Given the description of an element on the screen output the (x, y) to click on. 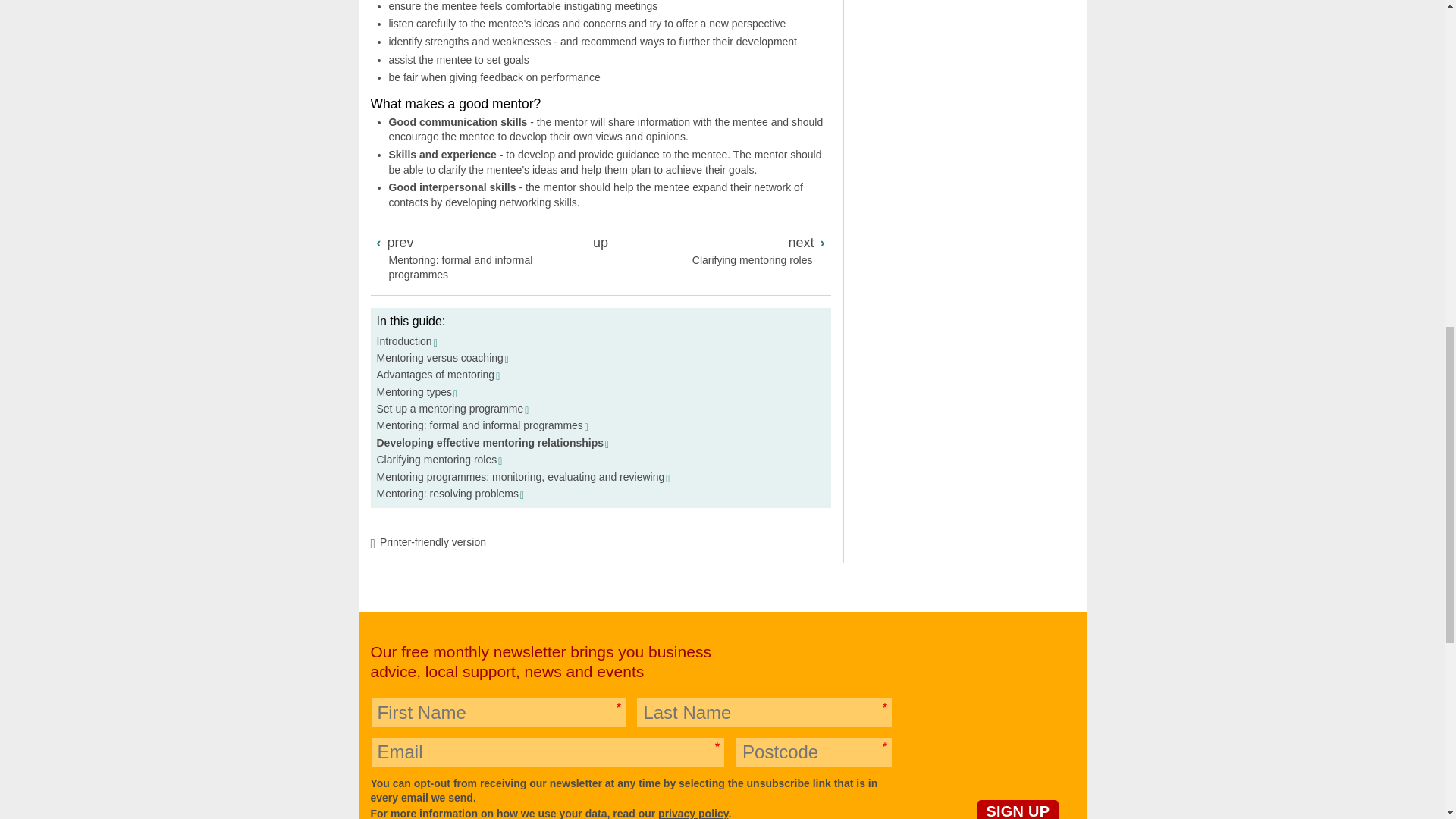
Go to next page (723, 250)
Sign up (1017, 809)
Go to previous page (474, 257)
